Given the description of an element on the screen output the (x, y) to click on. 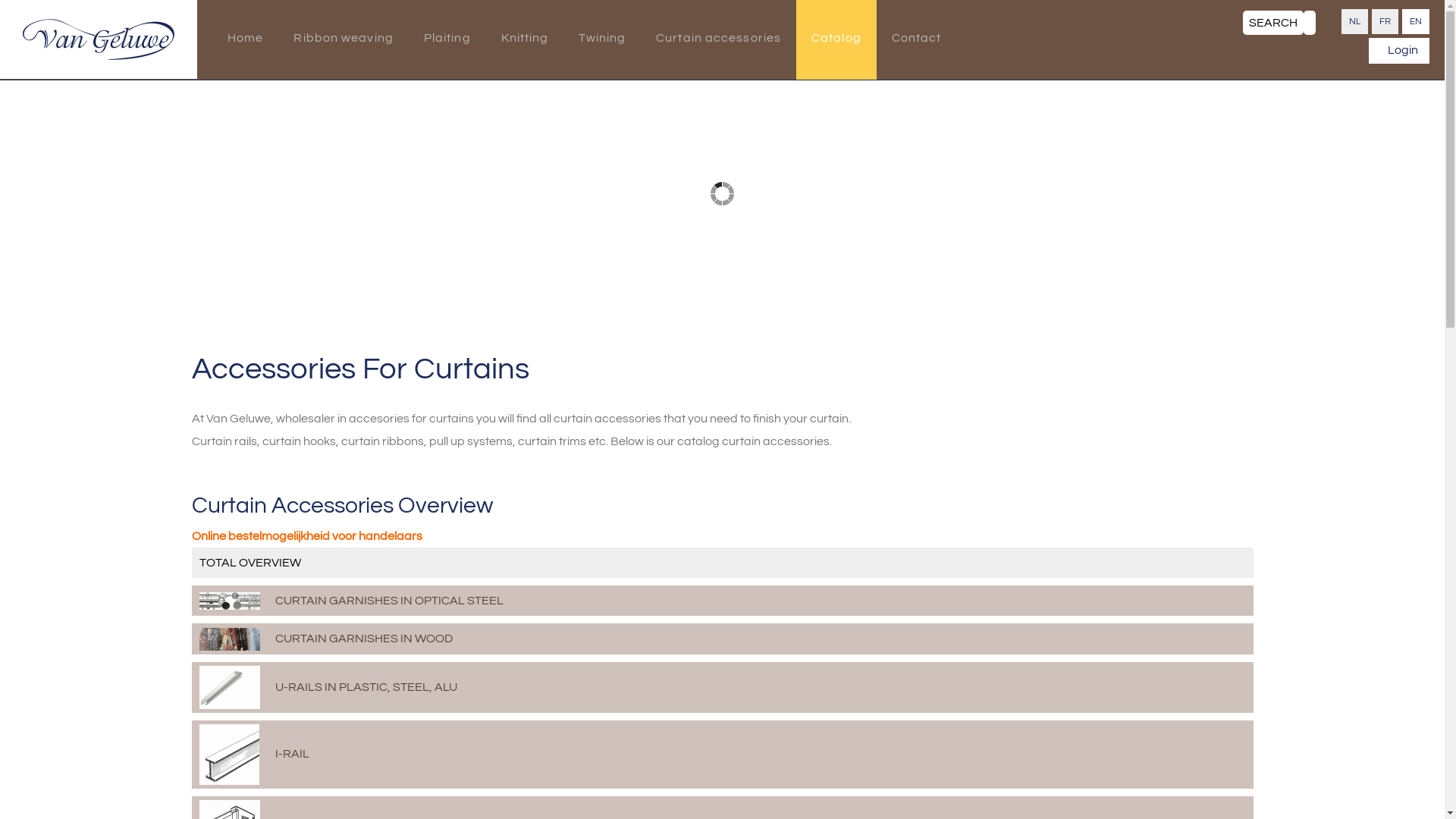
Login Element type: text (1398, 50)
Contact Element type: text (916, 39)
Catalog Element type: text (836, 39)
EN Element type: text (1415, 21)
I-RAIL Element type: text (721, 754)
SEARCH Element type: text (1272, 22)
Plaiting Element type: text (447, 39)
Knitting Element type: text (525, 39)
TOTAL OVERVIEW Element type: text (721, 562)
Curtain accessories Element type: text (718, 39)
U-RAILS IN PLASTIC, STEEL, ALU Element type: text (721, 687)
Twining Element type: text (601, 39)
Van Geluwe Element type: hover (98, 38)
Home Element type: text (245, 39)
NL Element type: text (1354, 21)
Ribbon weaving Element type: text (342, 39)
FR Element type: text (1384, 21)
CURTAIN GARNISHES IN WOOD Element type: text (721, 638)
CURTAIN GARNISHES IN OPTICAL STEEL Element type: text (721, 600)
